Given the description of an element on the screen output the (x, y) to click on. 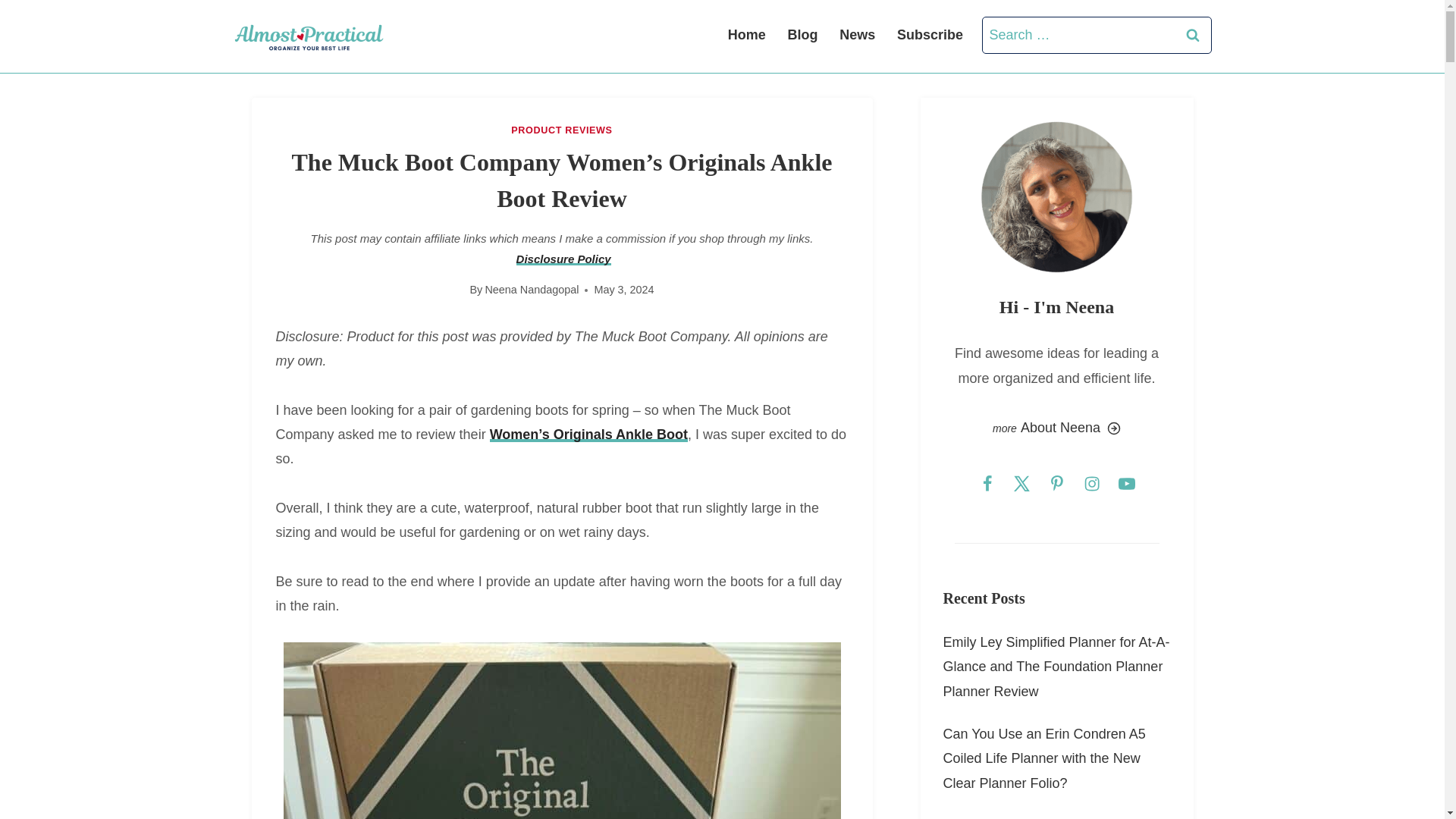
Blog (802, 35)
Follow on Pinterest (1056, 483)
Follow on Facebook (986, 483)
Home (746, 35)
Subscribe (930, 35)
Follow on Instagram (1091, 483)
Search (1192, 35)
News (857, 35)
Follow on X (1021, 483)
Neena Nandagopal (531, 289)
